Given the description of an element on the screen output the (x, y) to click on. 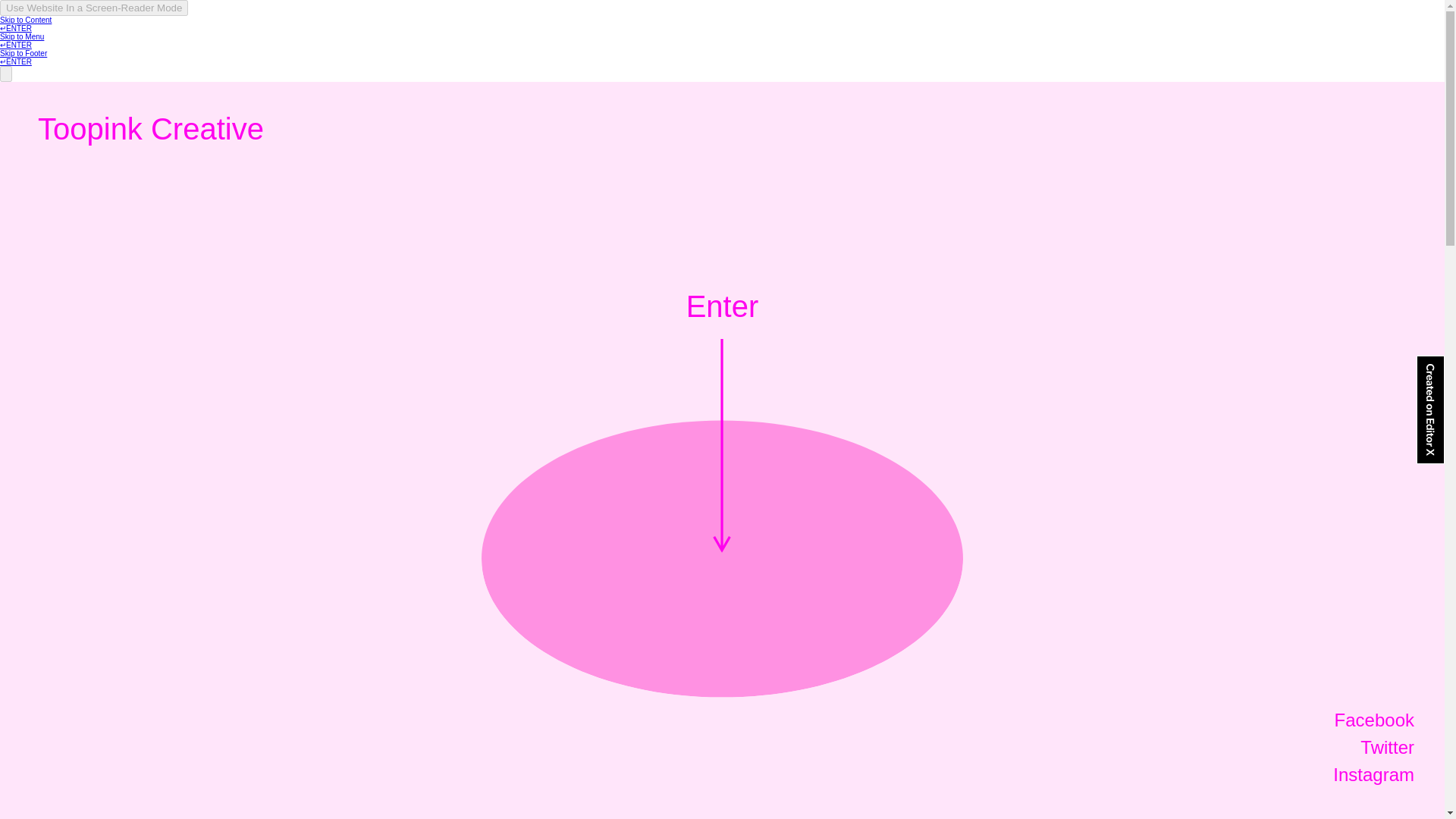
Facebook (1374, 720)
Twitter (1386, 747)
Instagram (1373, 774)
